Given the description of an element on the screen output the (x, y) to click on. 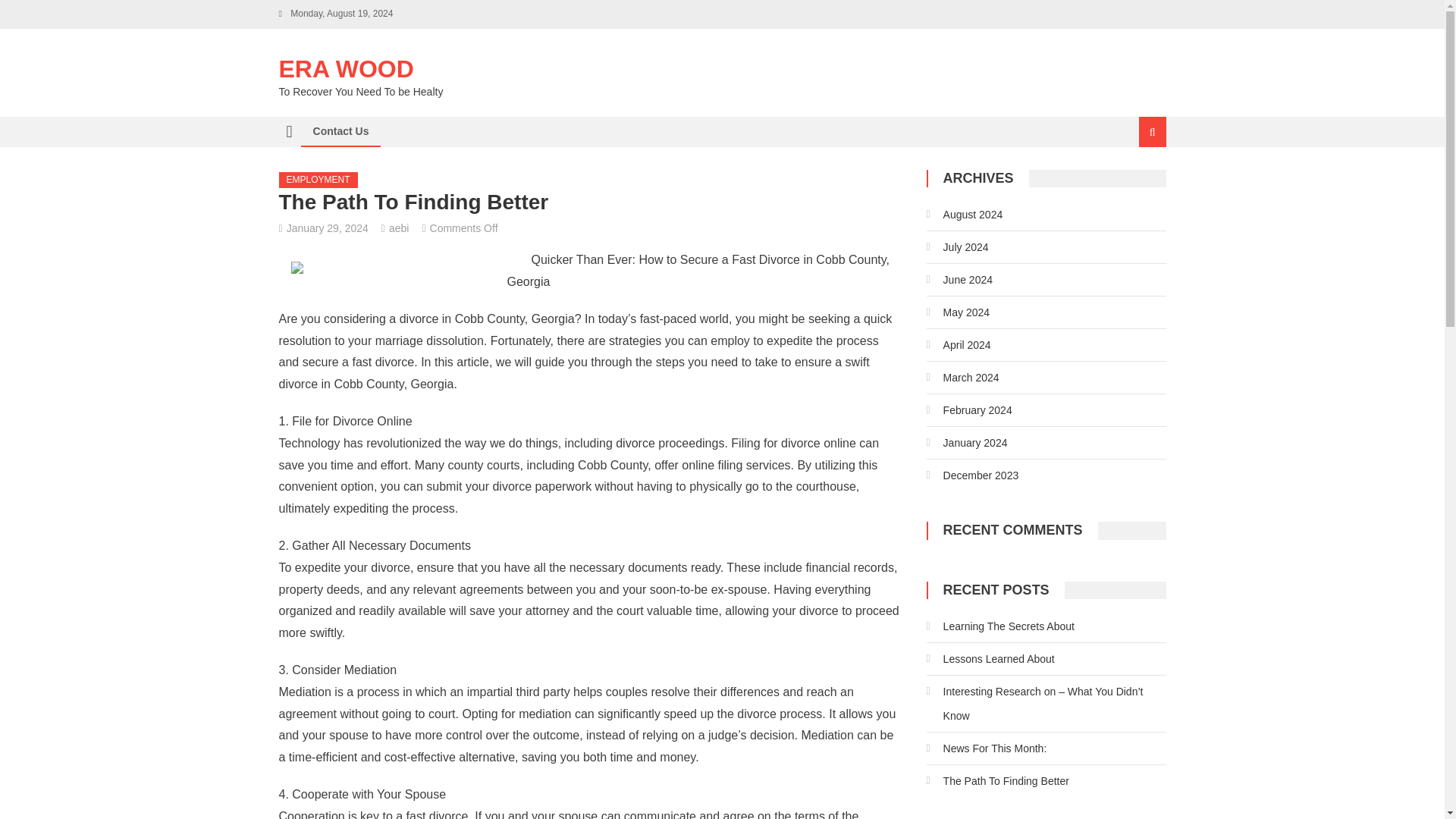
August 2024 (964, 214)
aebi (398, 227)
Contact Us (340, 131)
May 2024 (958, 312)
February 2024 (968, 410)
March 2024 (962, 377)
ERA WOOD (346, 68)
June 2024 (959, 279)
July 2024 (957, 247)
January 29, 2024 (327, 227)
